Given the description of an element on the screen output the (x, y) to click on. 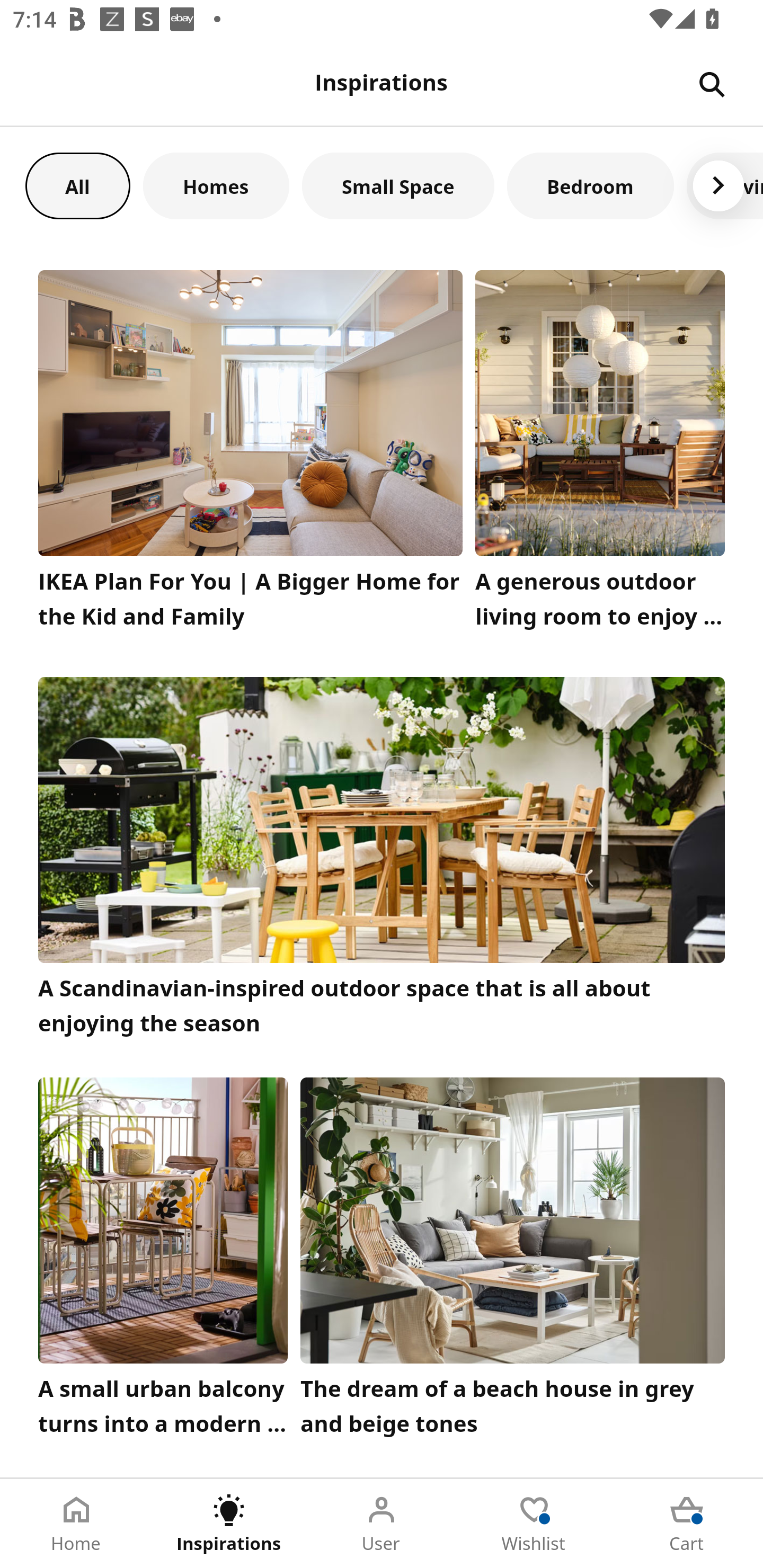
All (77, 185)
Homes (216, 185)
Small Space (398, 185)
Bedroom (590, 185)
The dream of a beach house in grey and beige tones (512, 1261)
Home
Tab 1 of 5 (76, 1522)
Inspirations
Tab 2 of 5 (228, 1522)
User
Tab 3 of 5 (381, 1522)
Wishlist
Tab 4 of 5 (533, 1522)
Cart
Tab 5 of 5 (686, 1522)
